Given the description of an element on the screen output the (x, y) to click on. 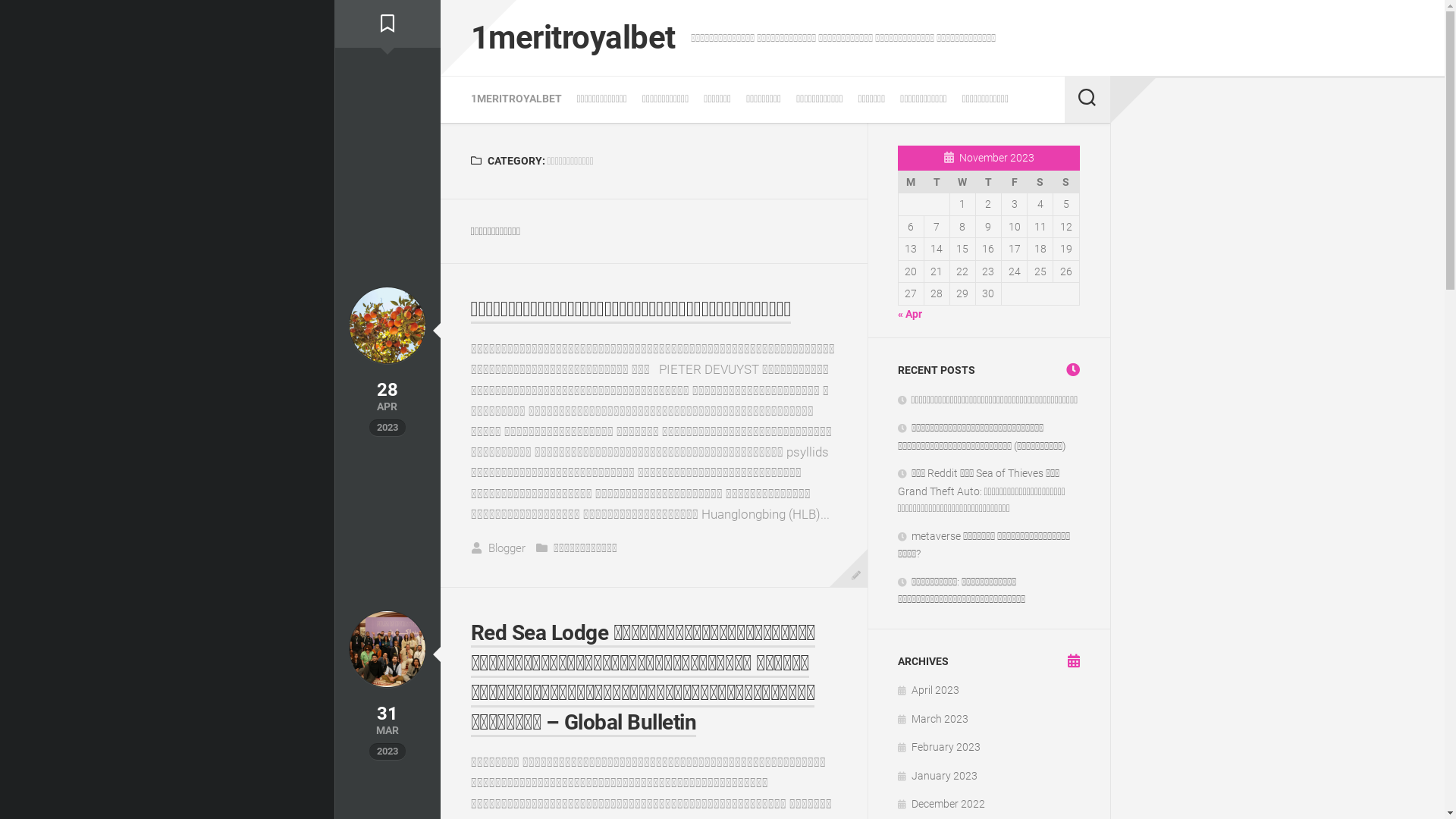
February 2023 Element type: text (938, 746)
April 2023 Element type: text (928, 690)
1meritroyalbet Element type: text (572, 37)
Blogger Element type: text (506, 548)
1MERITROYALBET Element type: text (515, 98)
January 2023 Element type: text (937, 774)
December 2022 Element type: text (941, 803)
March 2023 Element type: text (932, 718)
